Given the description of an element on the screen output the (x, y) to click on. 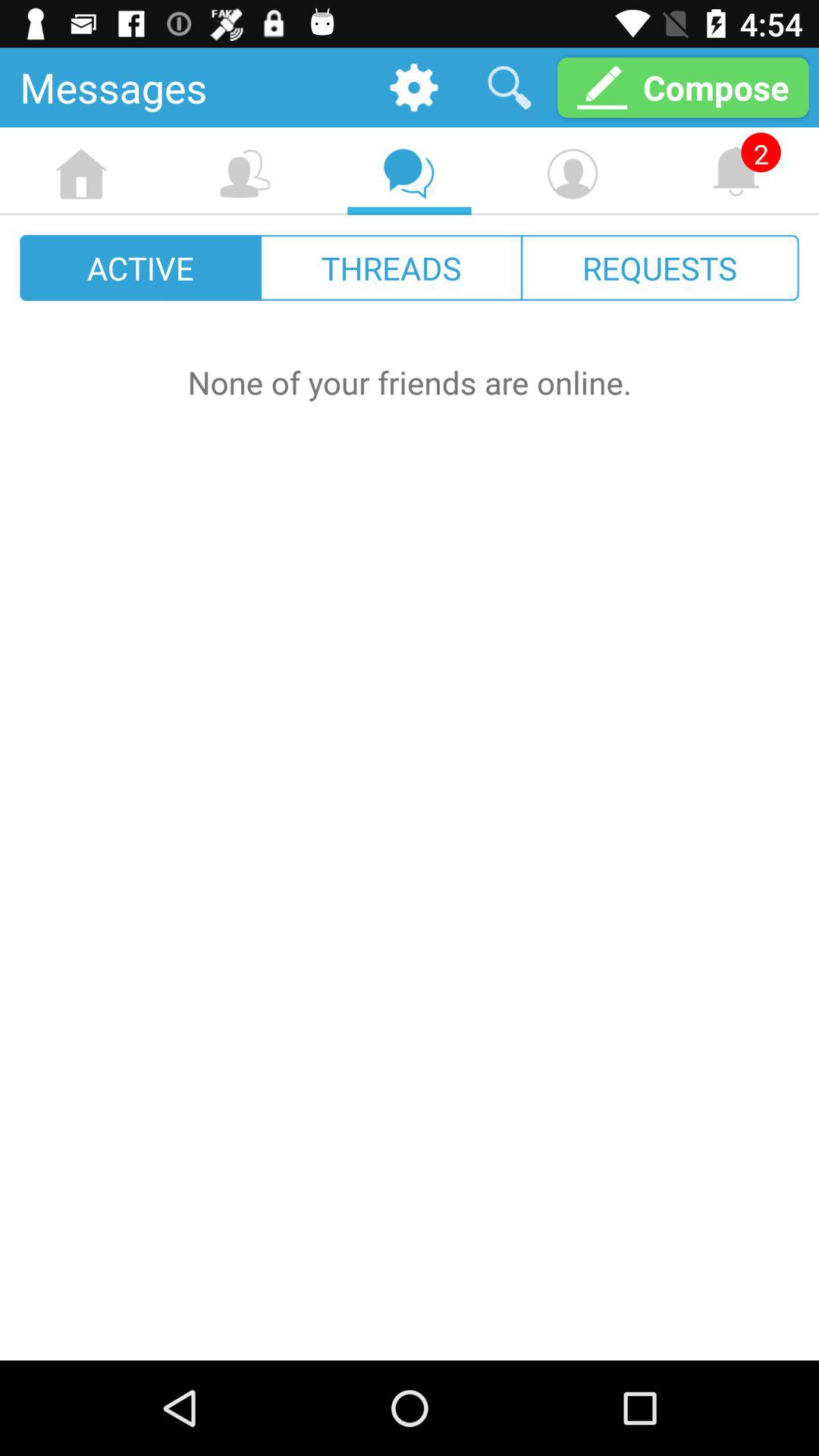
open item above 2 item (682, 87)
